Given the description of an element on the screen output the (x, y) to click on. 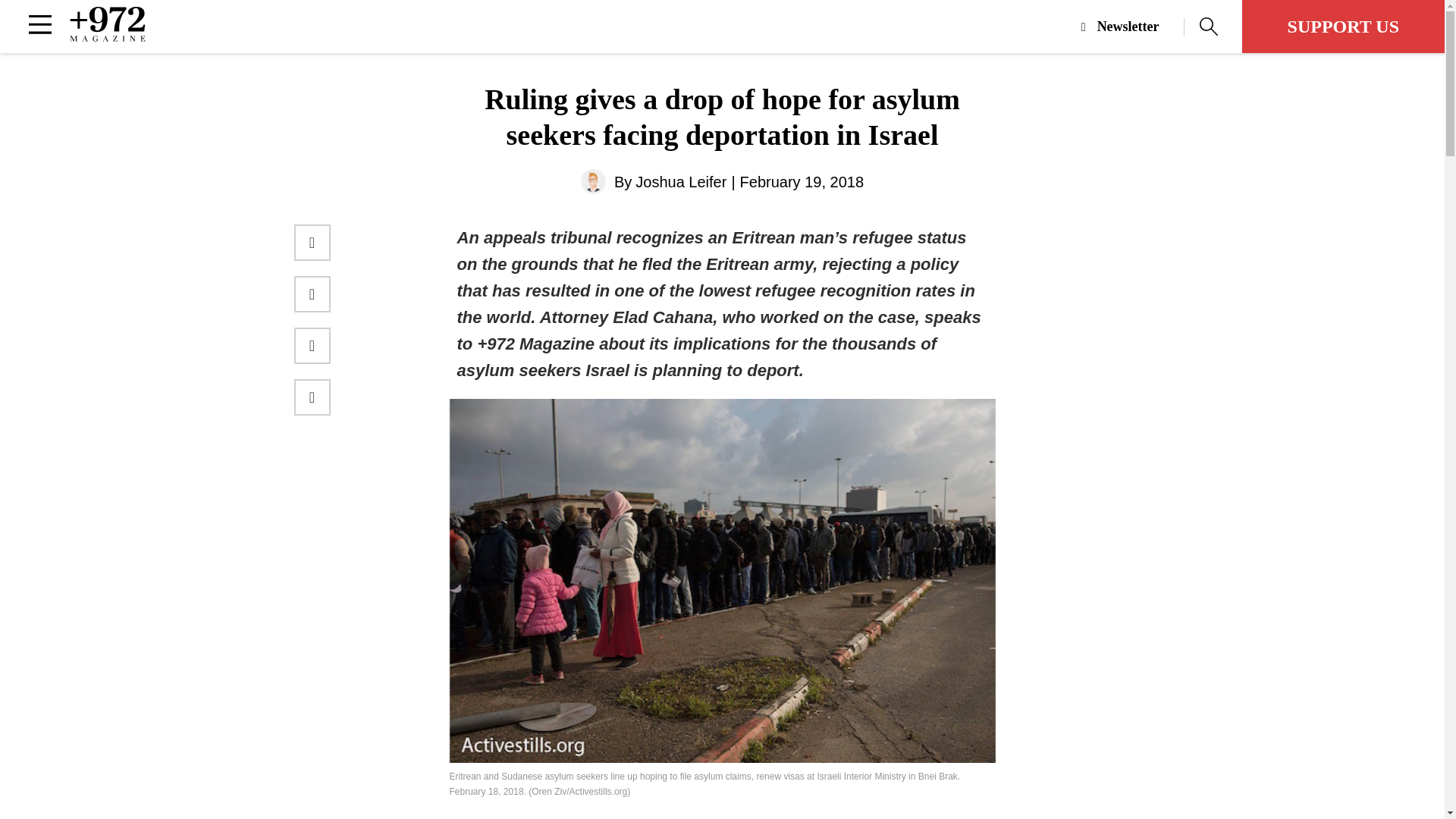
Newsletter (1133, 27)
Joshua Leifer (592, 181)
Joshua Leifer (680, 181)
Joshua Leifer (680, 181)
last week (748, 817)
